Given the description of an element on the screen output the (x, y) to click on. 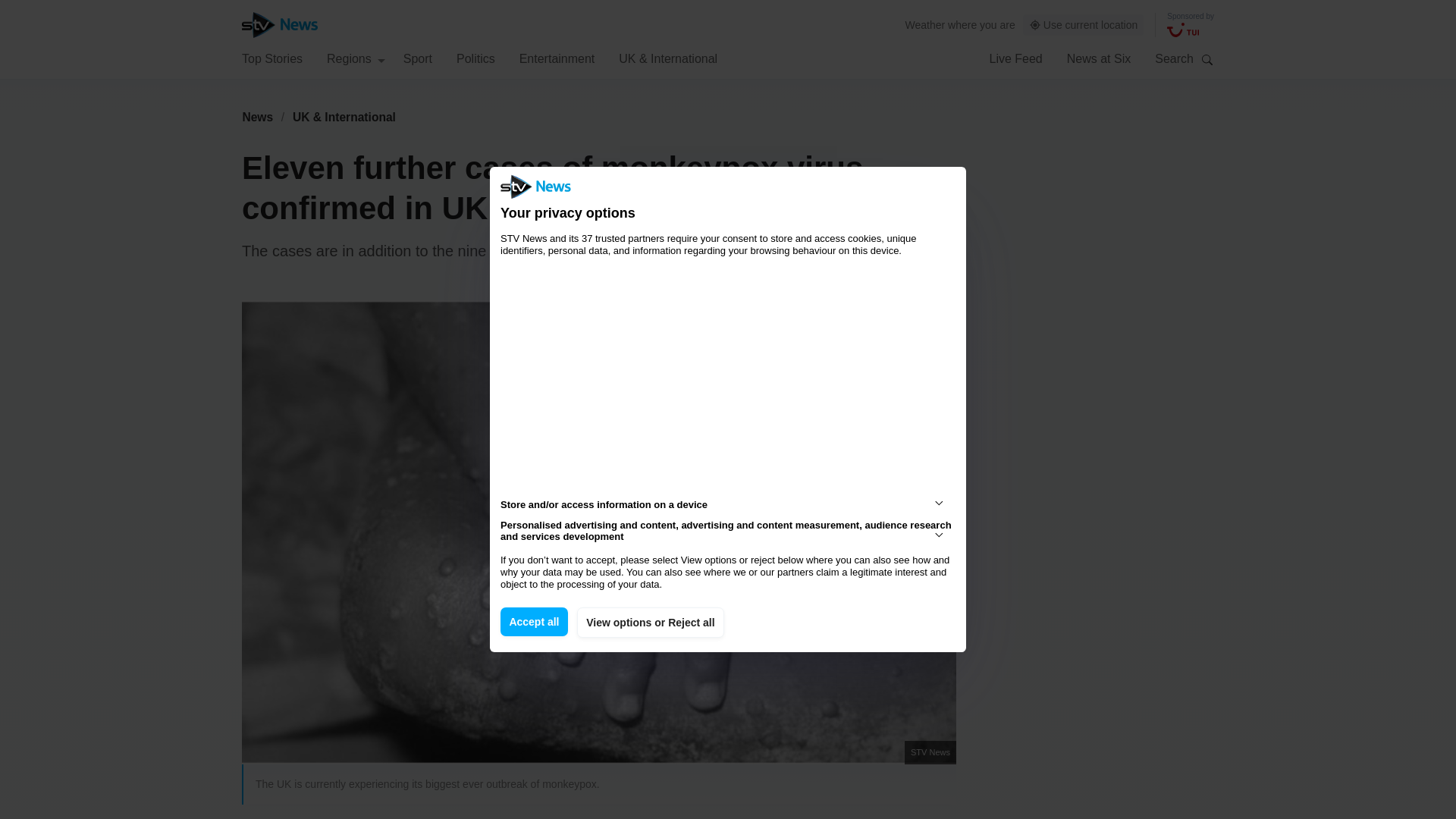
News (257, 116)
Weather (924, 24)
Live Feed (1015, 57)
Search (1206, 59)
Regions (355, 57)
Politics (476, 57)
Top Stories (271, 57)
News at Six (1099, 57)
Entertainment (557, 57)
Use current location (1083, 25)
